Given the description of an element on the screen output the (x, y) to click on. 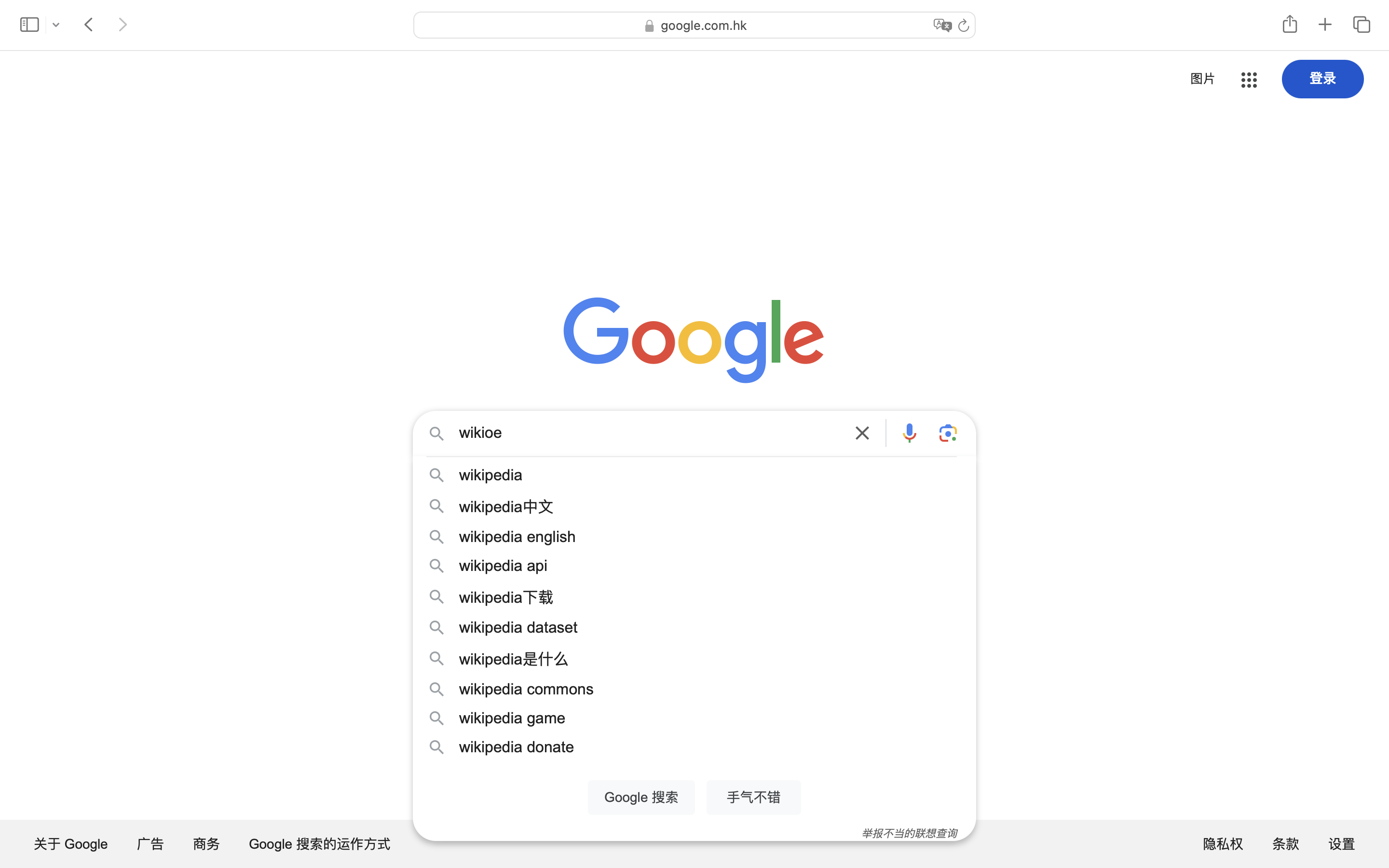
关于 Google Element type: AXStaticText (70, 843)
